Given the description of an element on the screen output the (x, y) to click on. 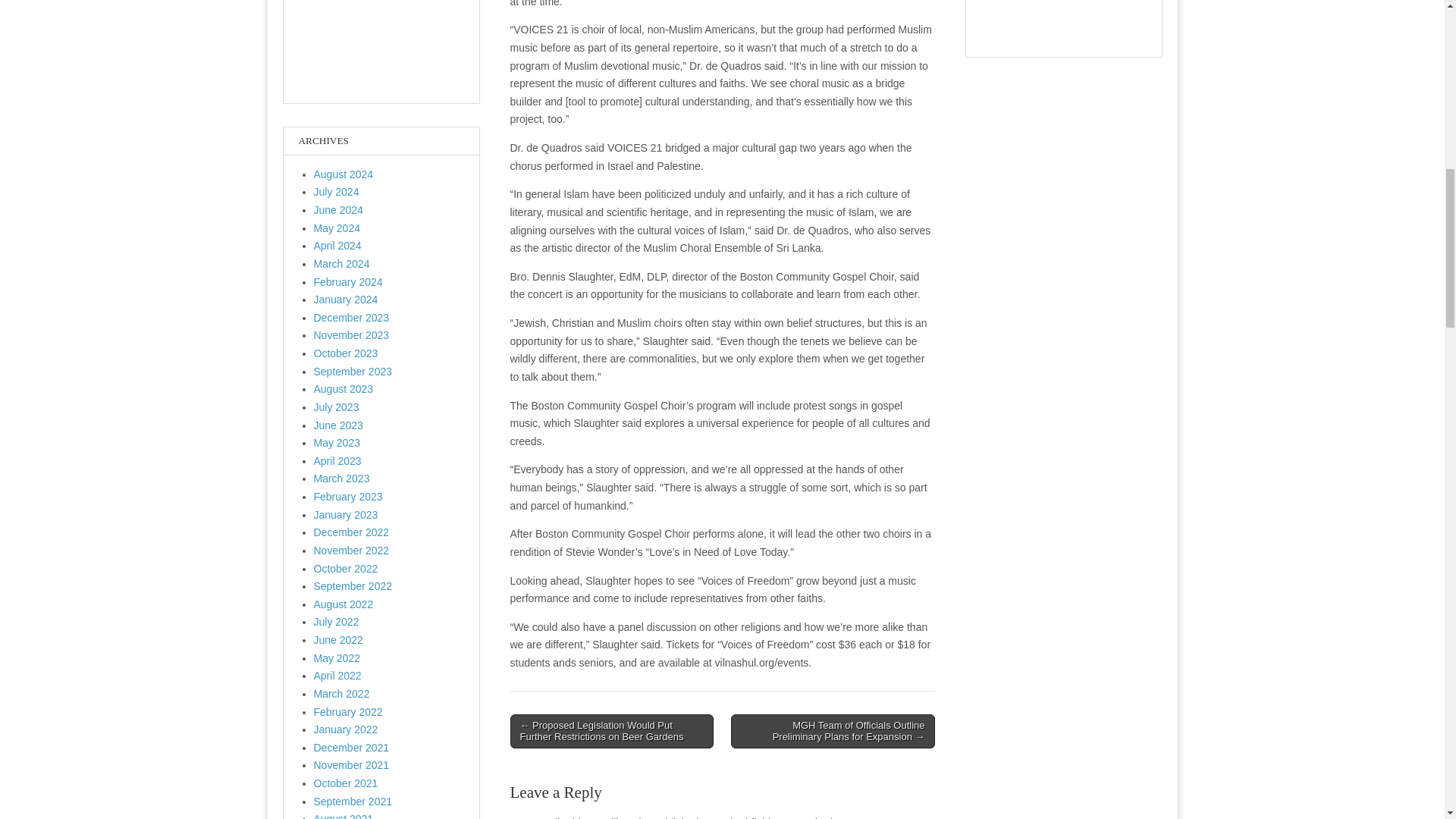
January 2024 (346, 299)
February 2024 (348, 282)
May 2024 (336, 227)
April 2024 (337, 245)
July 2024 (336, 191)
August 2024 (344, 174)
June 2024 (338, 209)
March 2024 (341, 263)
